Given the description of an element on the screen output the (x, y) to click on. 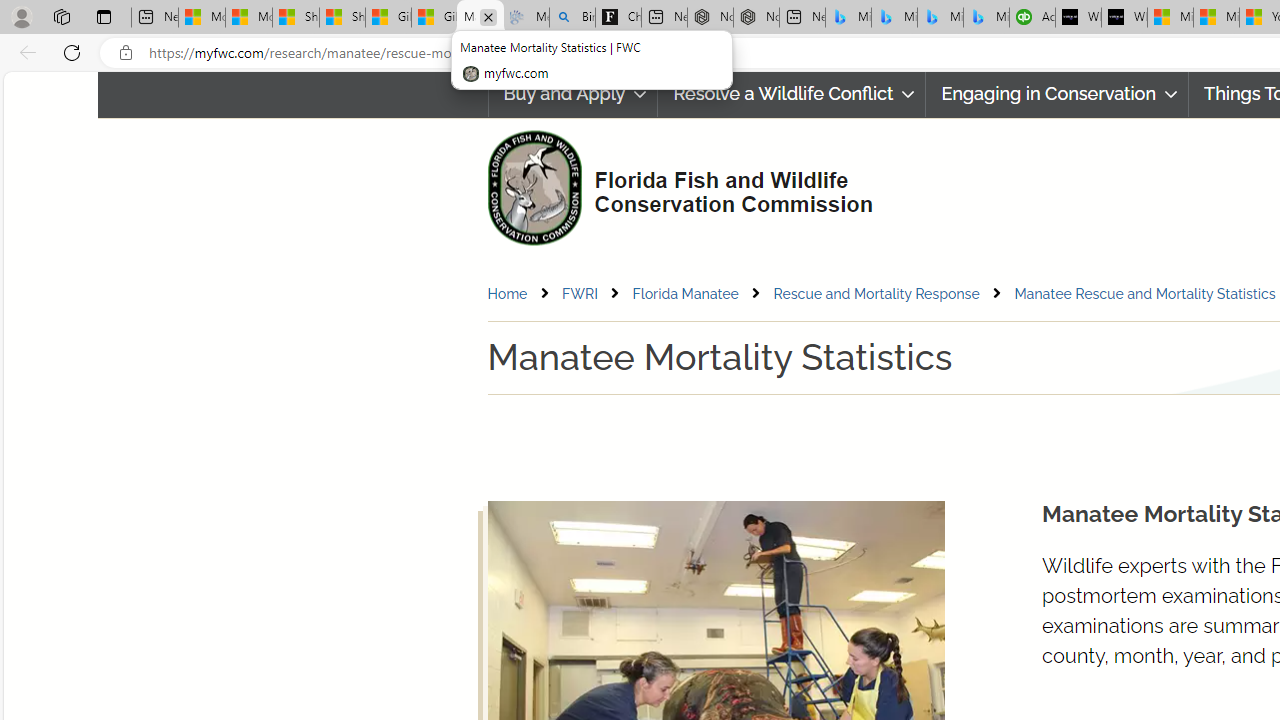
Gilma and Hector both pose tropical trouble for Hawaii (434, 17)
FWC Logo Florida Fish and Wildlife Conservation Commission (671, 185)
View site information (125, 53)
Home (506, 293)
Manatee Rescue and Mortality Statistics (1144, 293)
Microsoft Start Sports (1170, 17)
FWRI (595, 293)
Bing Real Estate - Home sales and rental listings (572, 17)
Refresh (72, 52)
Buy and Apply (572, 94)
